Given the description of an element on the screen output the (x, y) to click on. 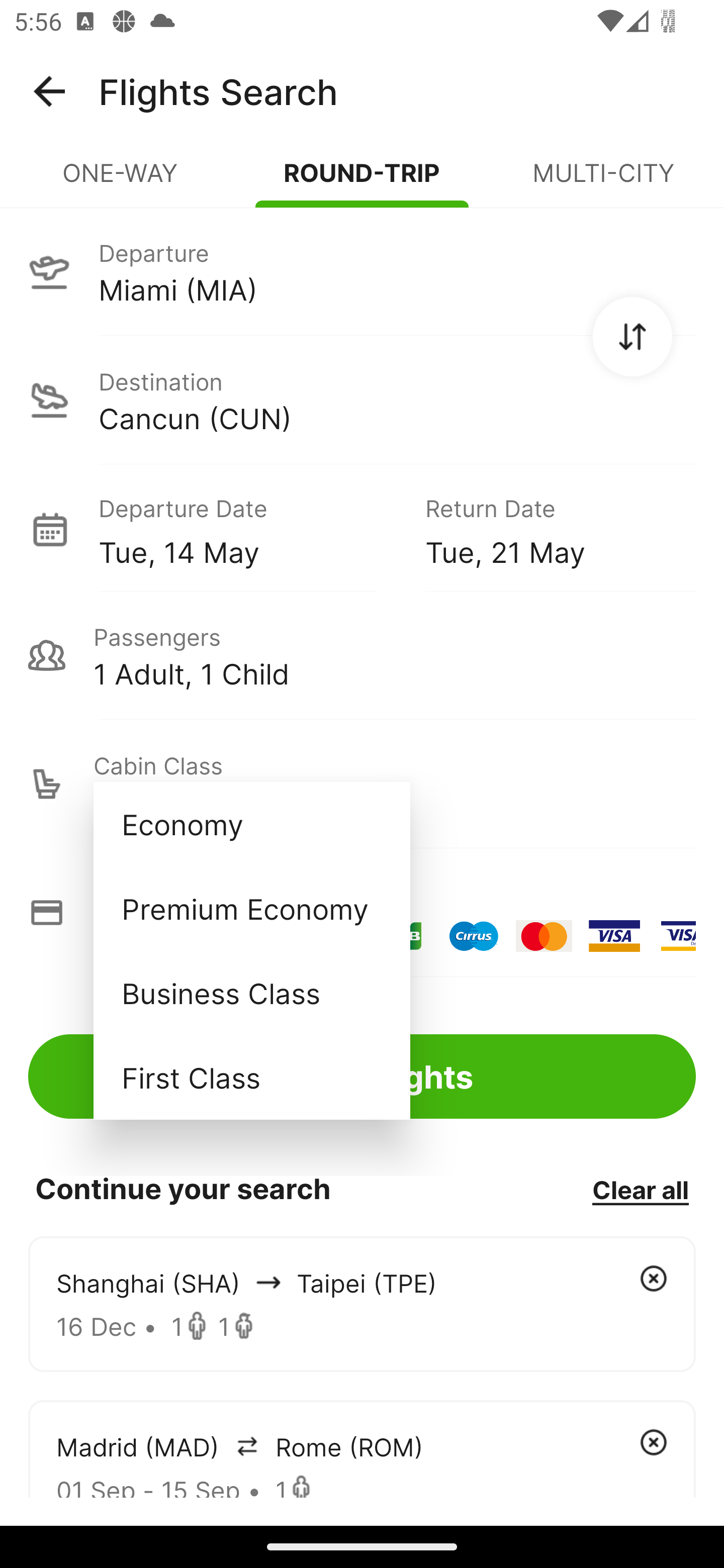
Economy (251, 824)
Premium Economy (251, 908)
Business Class (251, 992)
First Class (251, 1076)
